Given the description of an element on the screen output the (x, y) to click on. 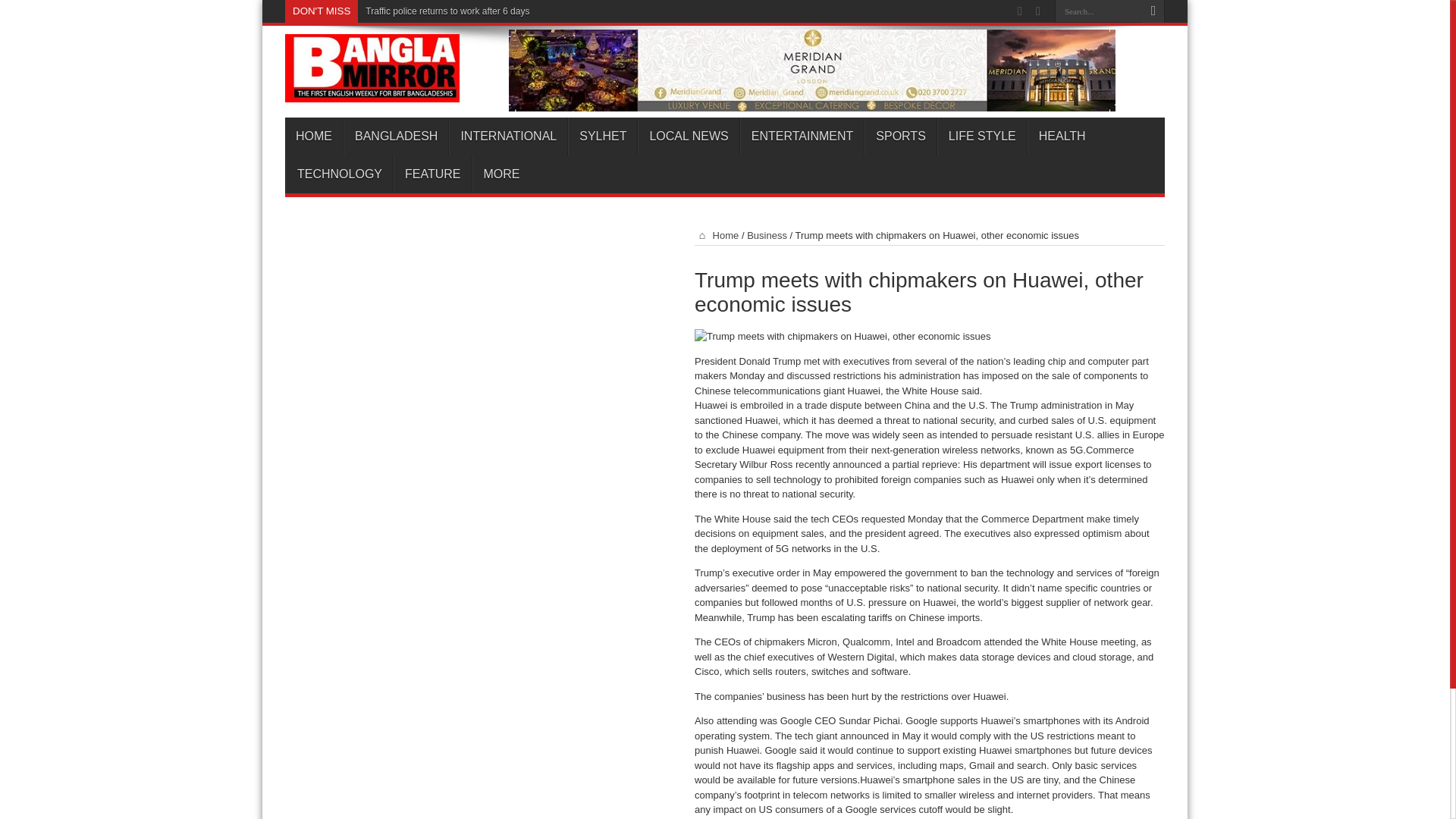
FEATURE (431, 174)
TECHNOLOGY (339, 174)
Search... (1097, 11)
Traffic police returns to work after 6 days (447, 11)
Search (1152, 11)
MORE (500, 174)
HEALTH (1061, 136)
